Given the description of an element on the screen output the (x, y) to click on. 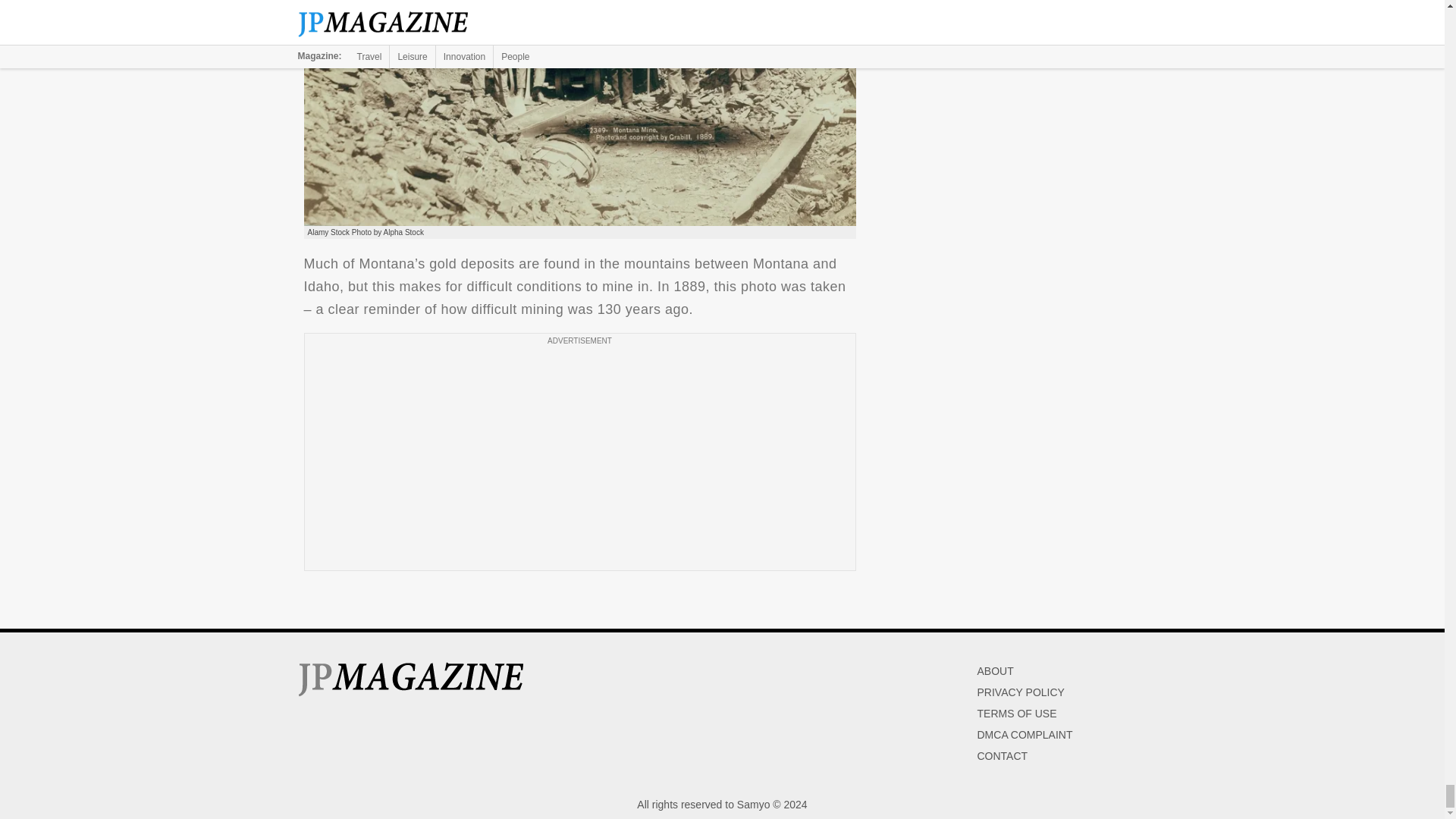
CONTACT (1001, 756)
PRIVACY POLICY (1020, 692)
TERMS OF USE (1016, 713)
DMCA COMPLAINT (1023, 734)
ABOUT (994, 671)
